Given the description of an element on the screen output the (x, y) to click on. 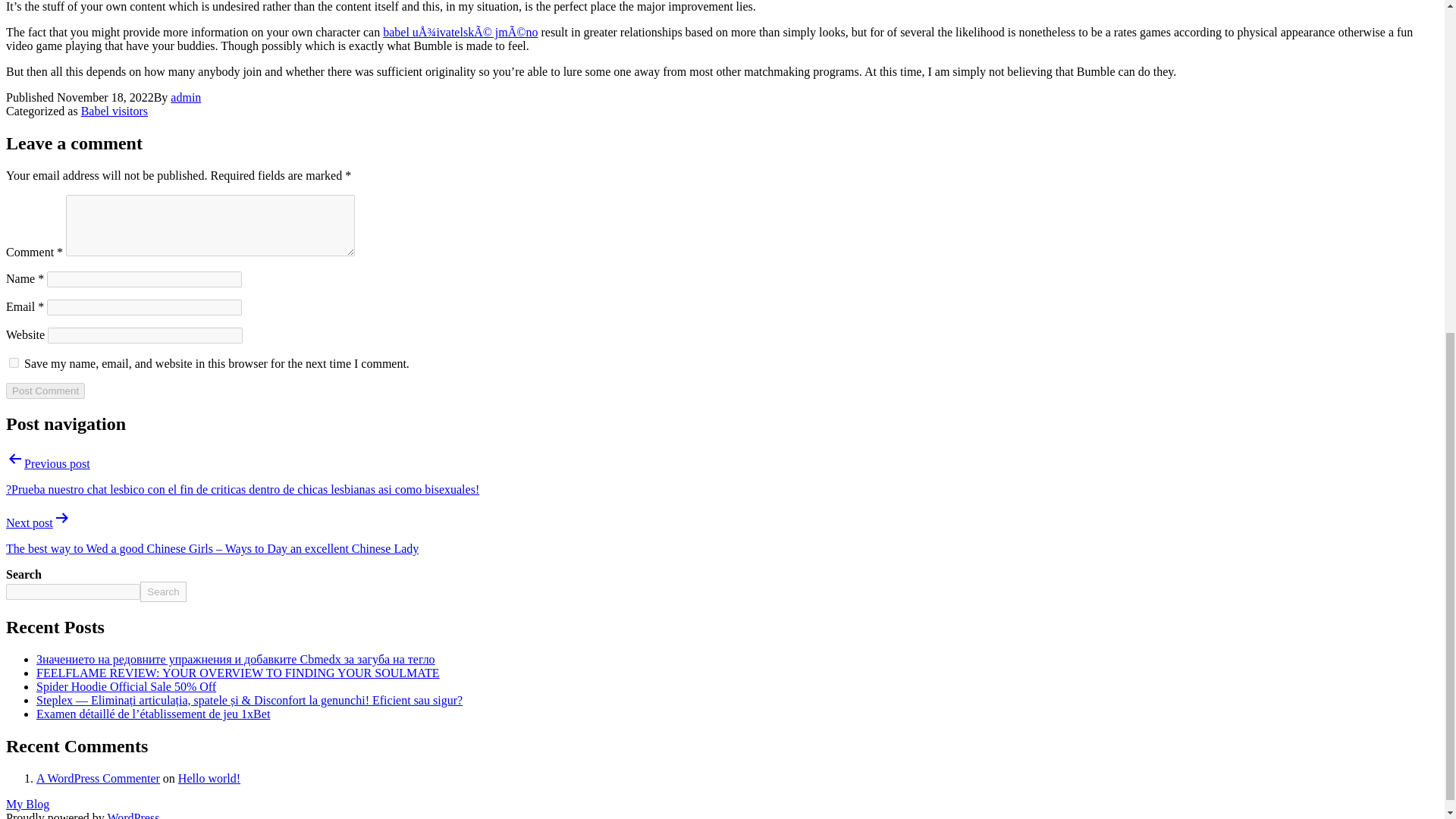
A WordPress Commenter (98, 777)
FEELFLAME REVIEW: YOUR OVERVIEW TO FINDING YOUR SOULMATE (237, 672)
yes (13, 362)
Babel visitors (114, 110)
My Blog (27, 802)
Search (162, 591)
Post Comment (44, 390)
Hello world! (208, 777)
admin (185, 97)
Post Comment (44, 390)
